Given the description of an element on the screen output the (x, y) to click on. 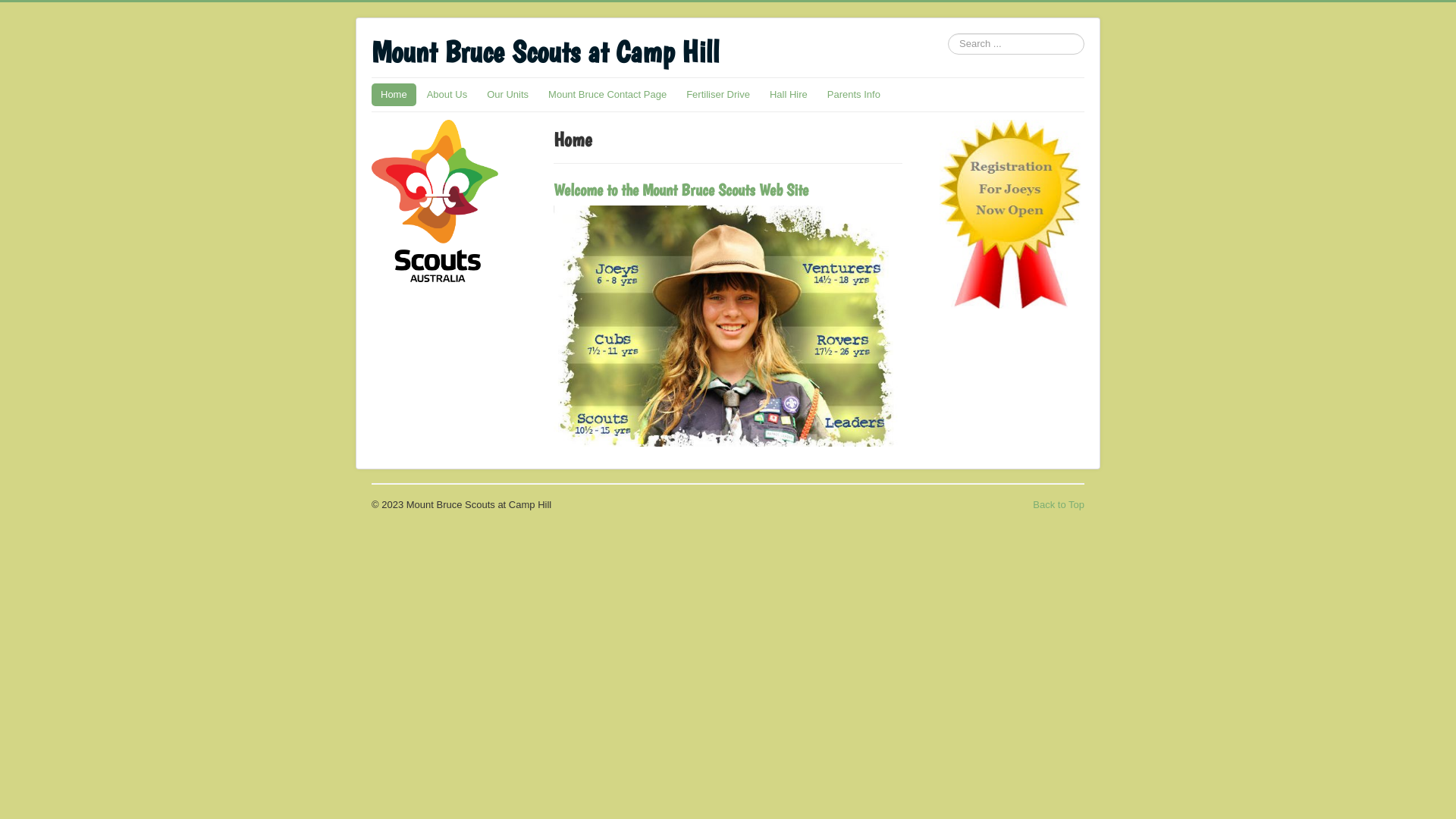
Fertiliser Drive Element type: text (718, 94)
Mount Bruce Contact Page Element type: text (607, 94)
Home Element type: text (393, 94)
Back to Top Element type: text (1058, 504)
Mount Bruce Scouts at Camp Hill Element type: text (544, 51)
About Us Element type: text (446, 94)
Our Units Element type: text (507, 94)
Welcome to the Mount Bruce Scouts Web Site Element type: text (680, 189)
Parents Info Element type: text (853, 94)
Hall Hire Element type: text (788, 94)
